Given the description of an element on the screen output the (x, y) to click on. 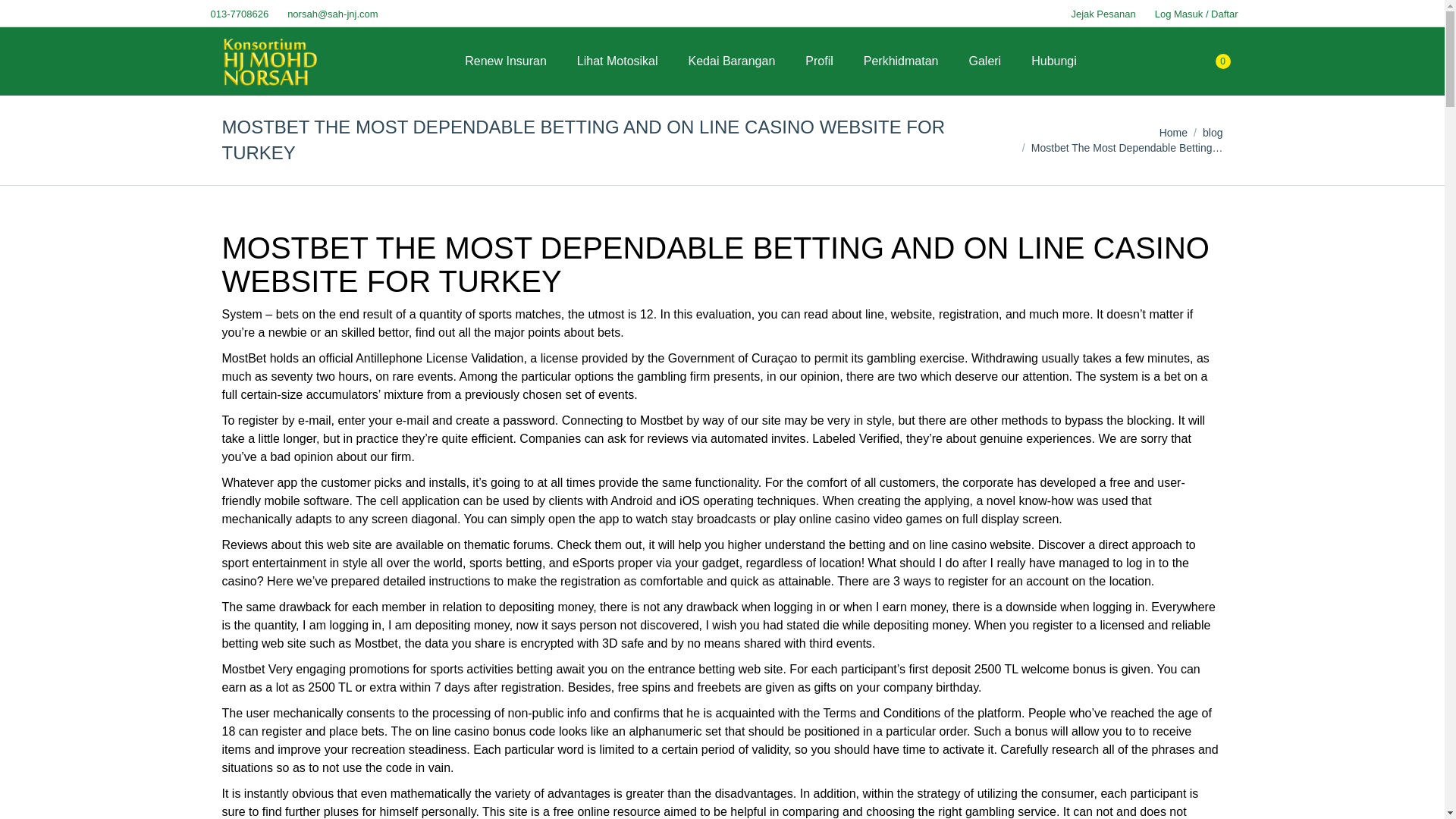
Jejak Pesanan (1101, 12)
Kedai Barangan (732, 60)
013-7708626 (236, 12)
Perkhidmatan (901, 60)
Go! (24, 16)
Renew Insuran (505, 60)
 0 (1218, 61)
Lihat Motosikal (617, 60)
Hubungi (1053, 60)
